Given the description of an element on the screen output the (x, y) to click on. 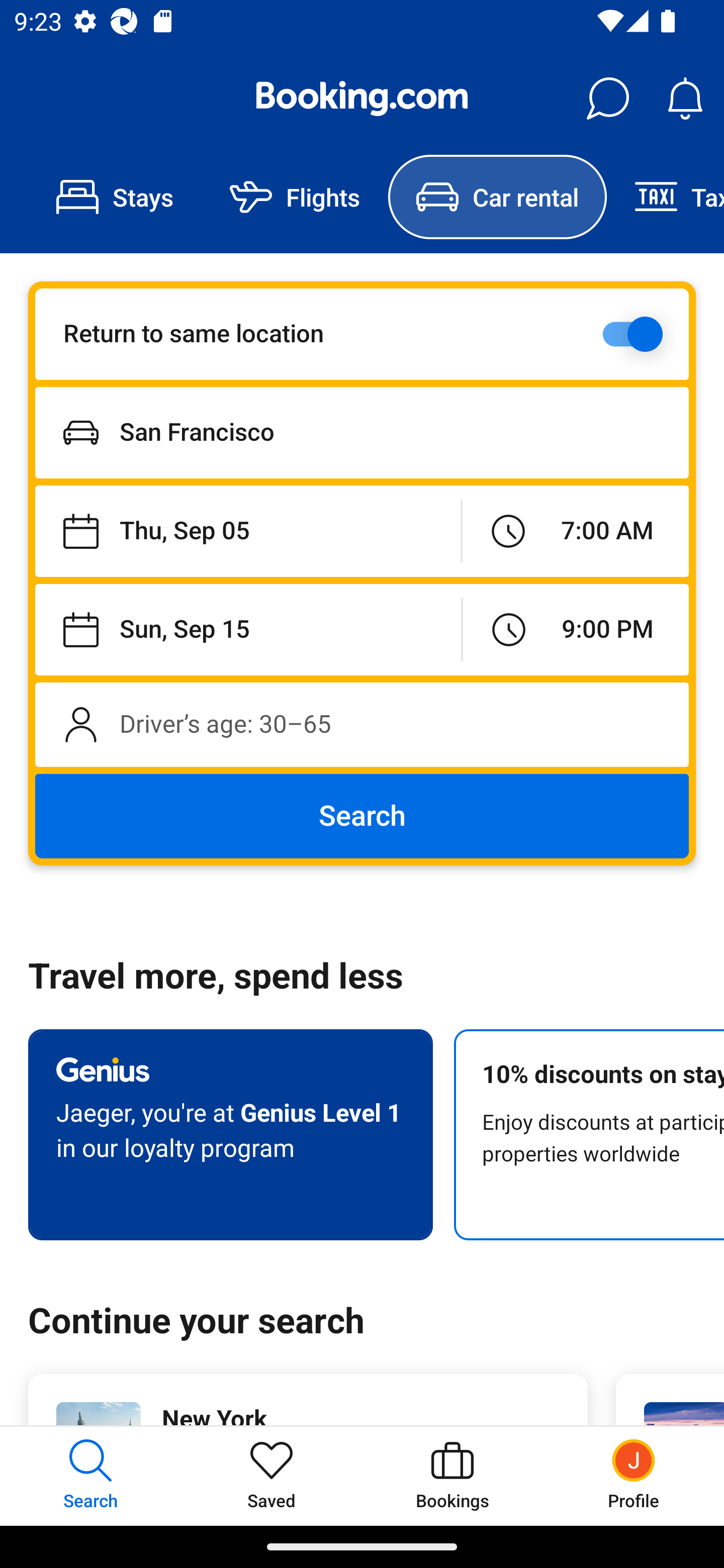
Messages (607, 98)
Notifications (685, 98)
Stays (114, 197)
Flights (294, 197)
Car rental (497, 197)
Taxi (665, 197)
Pick-up location: Text(name=San Francisco) (361, 432)
Pick-up date: 2024-09-05 (247, 531)
Pick-up time: 07:00:00.000 (575, 531)
Drop-off date: 2024-09-15 (248, 629)
Drop-off time: 21:00:00.000 (575, 629)
Enter the driver's age (361, 724)
Search (361, 815)
Saved (271, 1475)
Bookings (452, 1475)
Profile (633, 1475)
